Given the description of an element on the screen output the (x, y) to click on. 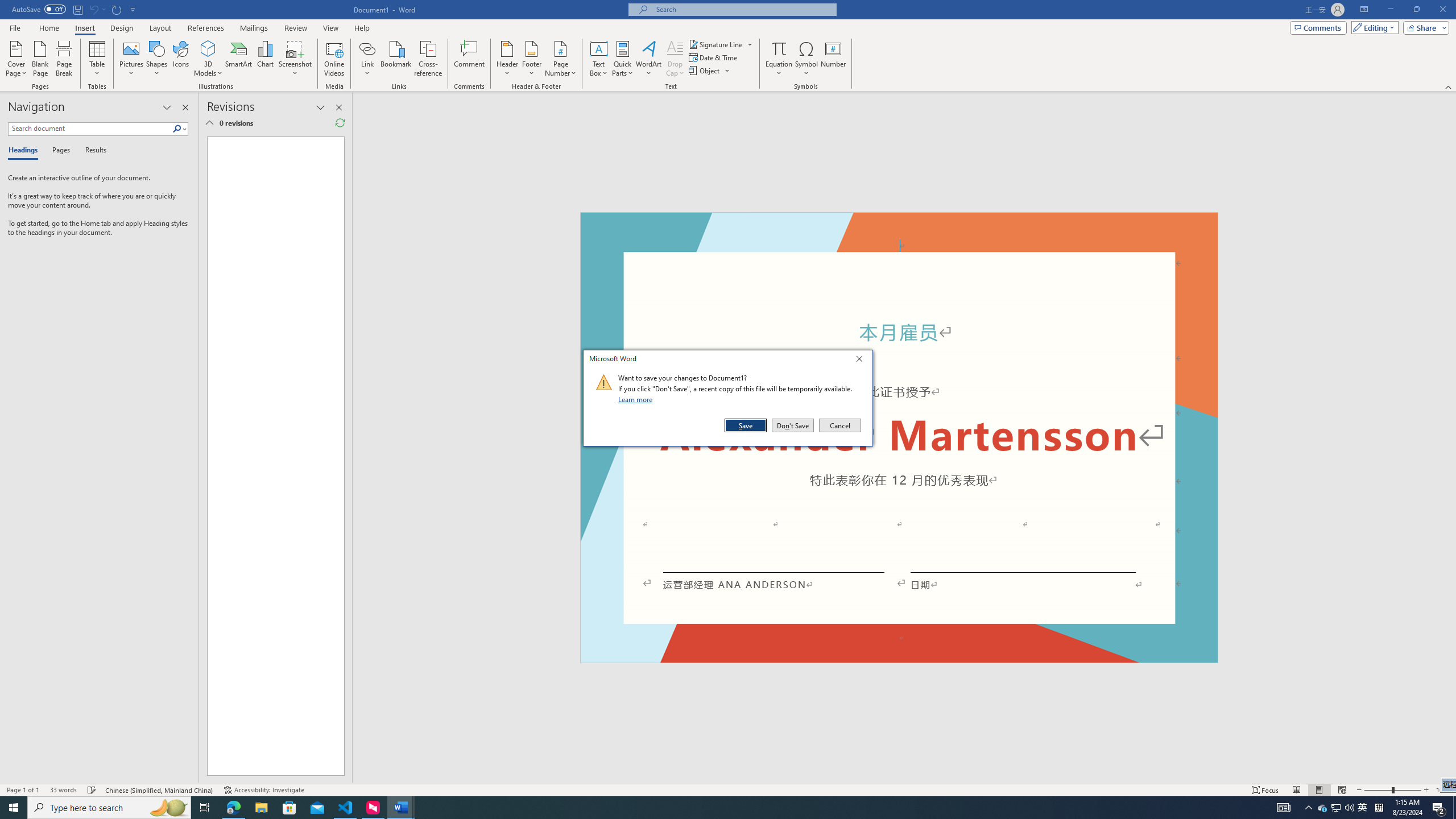
Text Box (598, 58)
Page Number Page 1 of 1 (22, 790)
Bookmark... (396, 58)
Cover Page (16, 58)
Zoom 100% (1443, 790)
Object... (705, 69)
Date & Time... (714, 56)
